Given the description of an element on the screen output the (x, y) to click on. 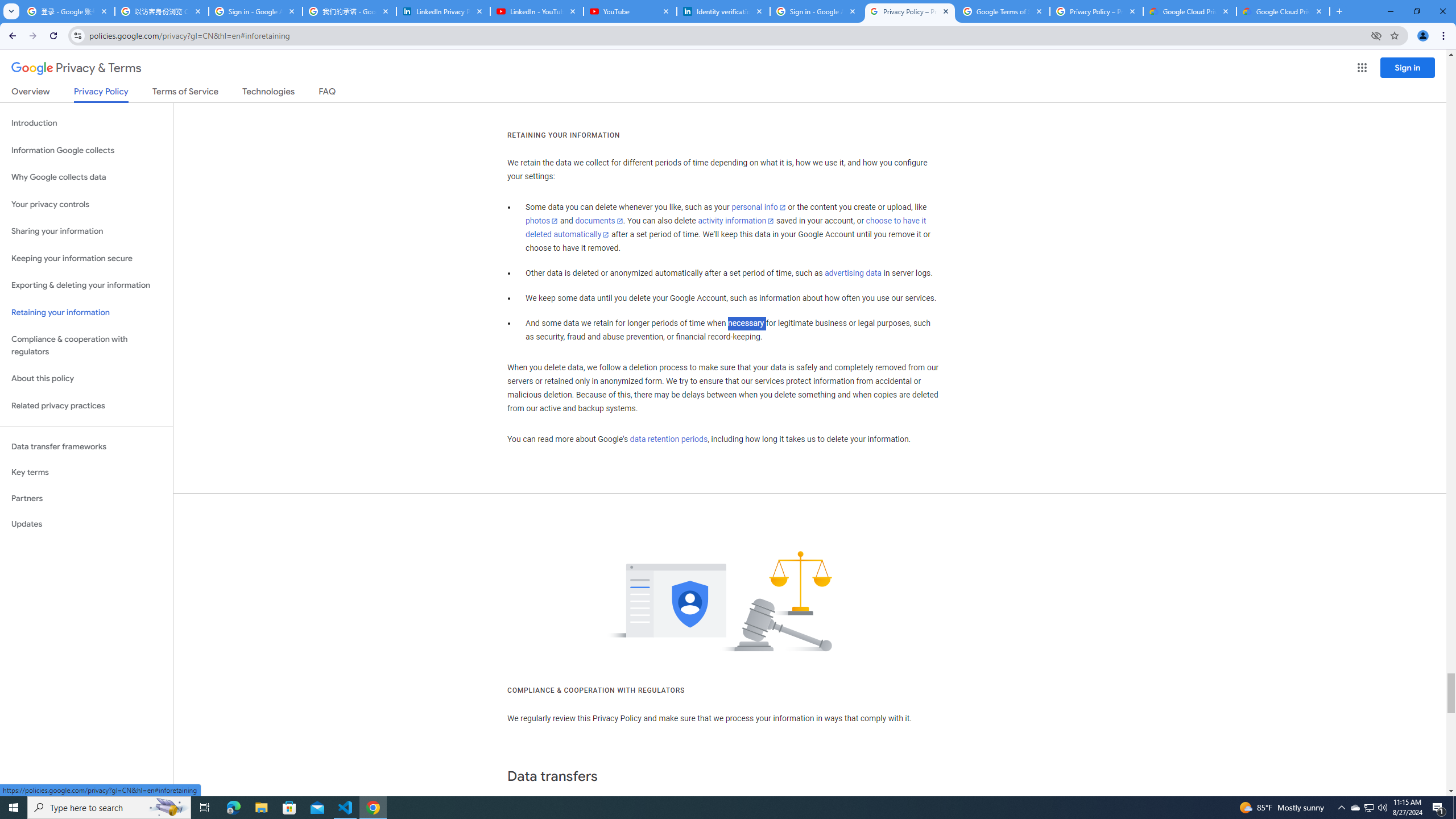
Partners (86, 497)
Your privacy controls (86, 204)
Data transfer frameworks (86, 446)
LinkedIn Privacy Policy (443, 11)
advertising data (852, 273)
personal info (758, 207)
Key terms (86, 472)
